Given the description of an element on the screen output the (x, y) to click on. 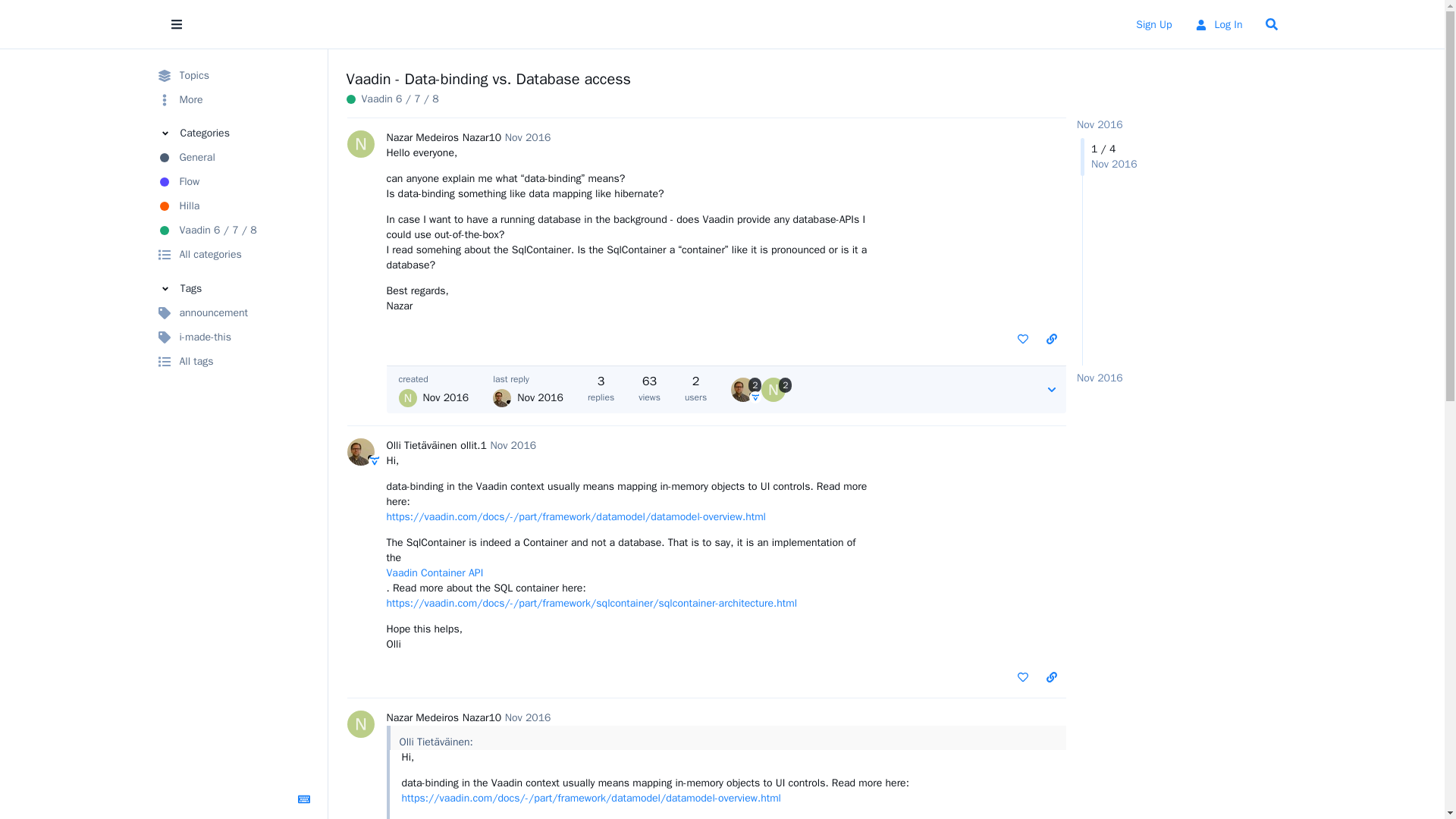
Vaadin - Data-binding vs. Database access (488, 78)
Tags (235, 288)
Sign Up (1152, 24)
Nazar Medeiros (423, 137)
2 (745, 389)
2 (776, 389)
i-made-this (235, 336)
Flow (235, 181)
Log In (1218, 24)
Keyboard Shortcuts (303, 799)
All topics (235, 75)
GWT-based Vaadin versions. (392, 99)
Search (1270, 24)
Vaadin Flow is our full-stack framework for Java developers. (235, 181)
